Given the description of an element on the screen output the (x, y) to click on. 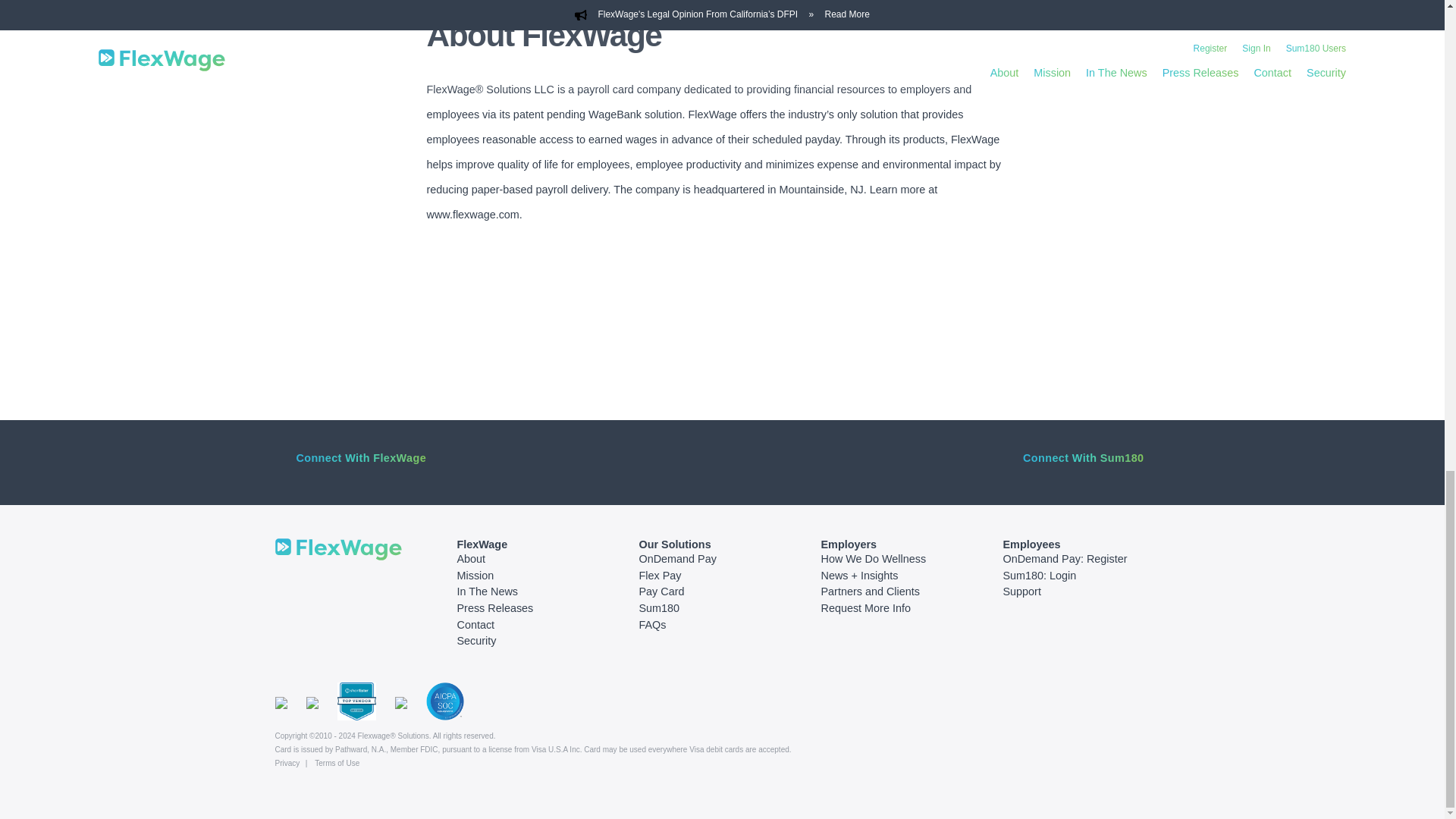
Pay Card (661, 591)
OnDemand Pay: Register (1064, 558)
Request More Info (865, 607)
Press Releases (494, 607)
Partners and Clients (869, 591)
Contact (476, 624)
Flex Pay (660, 575)
FAQs (652, 624)
Security (476, 640)
About (470, 558)
In The News (487, 591)
Mission (475, 575)
Sum180 (659, 607)
How We Do Wellness (873, 558)
OnDemand Pay (677, 558)
